Given the description of an element on the screen output the (x, y) to click on. 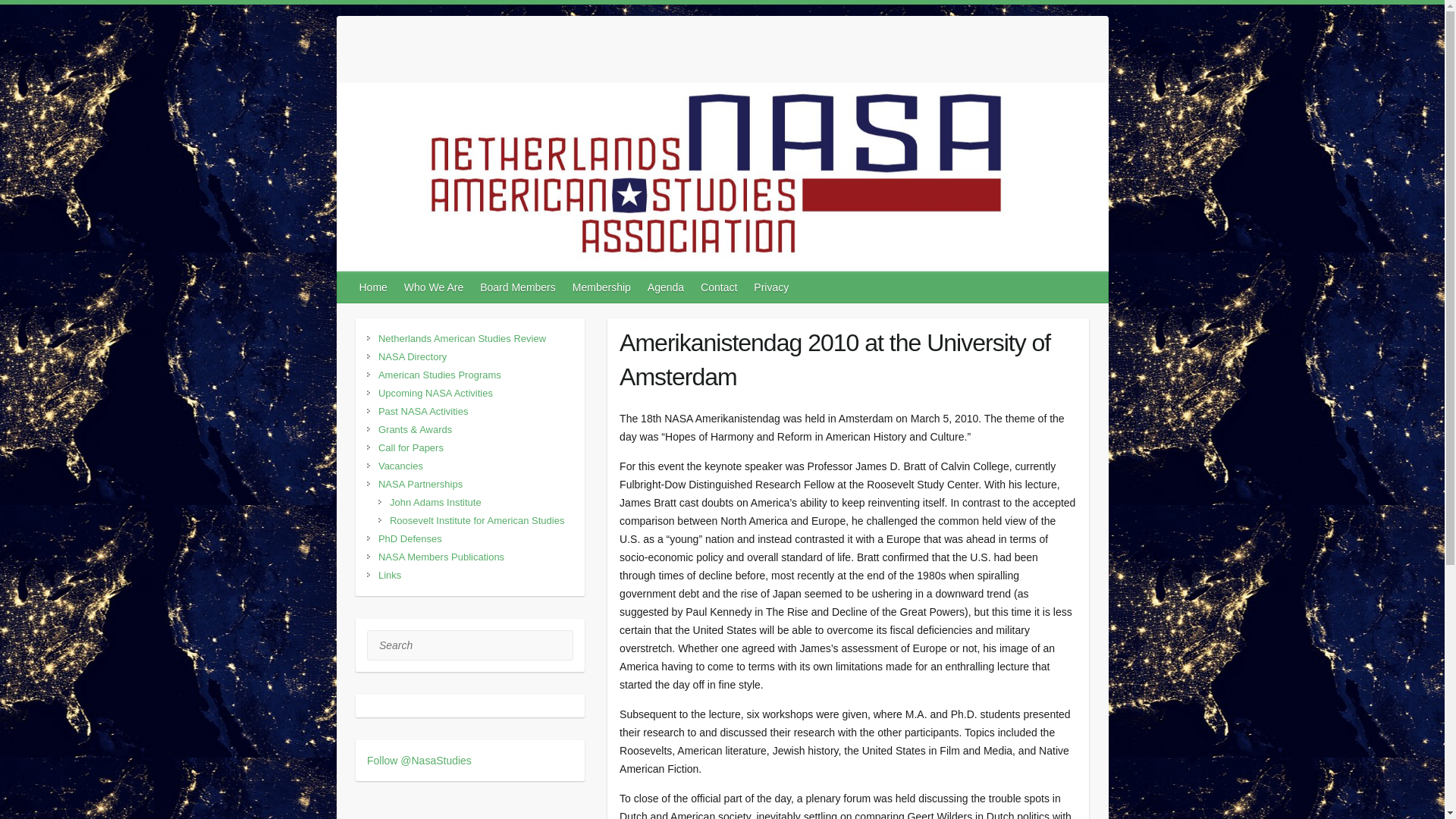
Who We Are (433, 286)
Links (389, 574)
Roosevelt Institute for American Studies (477, 520)
Board Members (517, 286)
Vacancies (400, 465)
Upcoming NASA Activities (435, 392)
Contact (719, 286)
Past NASA Activities (423, 410)
Agenda (666, 286)
NASA Members Publications (440, 556)
